Given the description of an element on the screen output the (x, y) to click on. 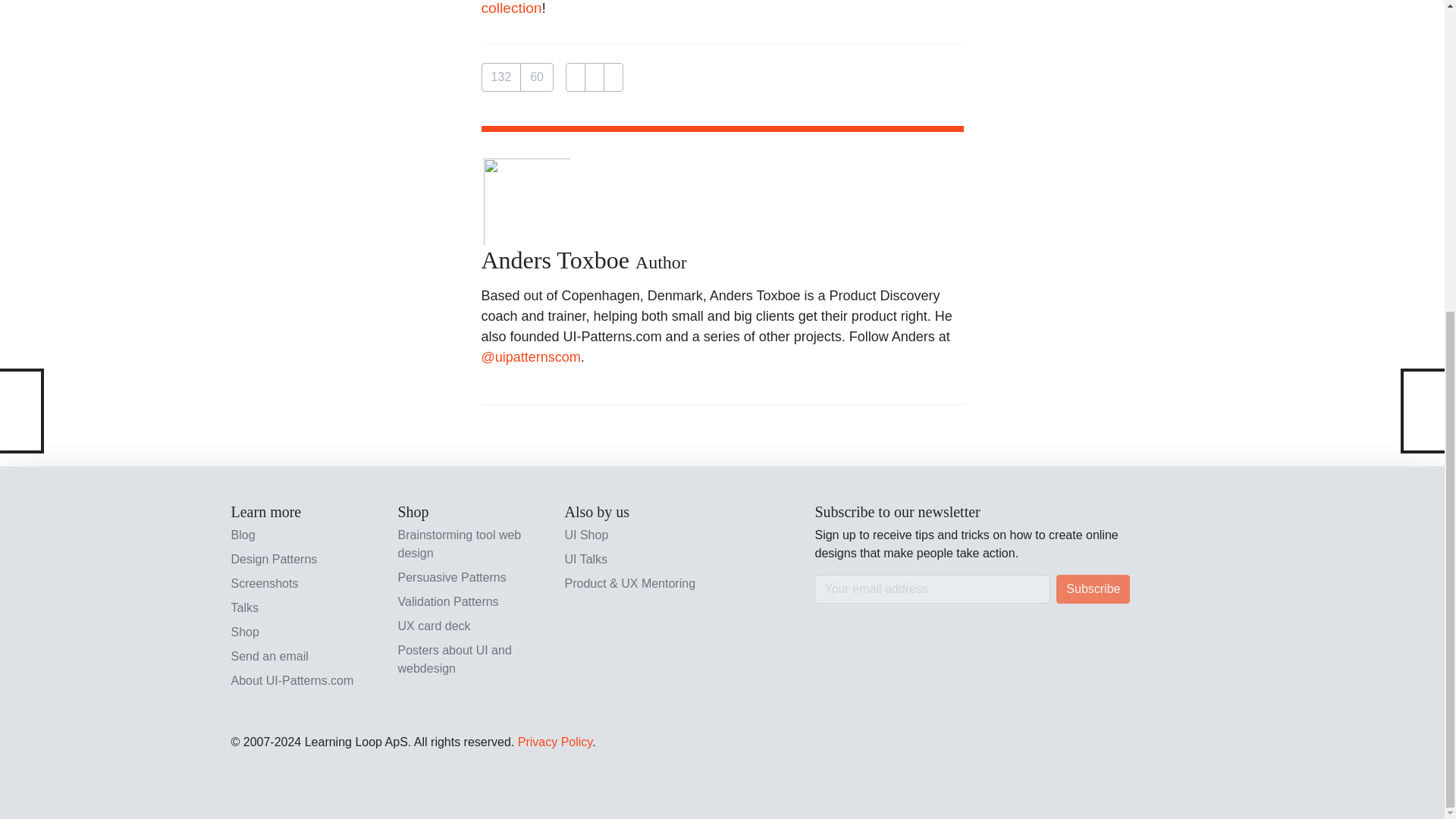
UX card deck (471, 626)
UI Shop (638, 535)
Persuasive Patterns (471, 577)
Privacy Policy (555, 741)
Brainstorming tool web design (471, 544)
About UI-Patterns.com (304, 680)
Shop (304, 632)
Design Patterns (304, 559)
Subscribe (1093, 588)
Lists screenshot collection (711, 8)
